Given the description of an element on the screen output the (x, y) to click on. 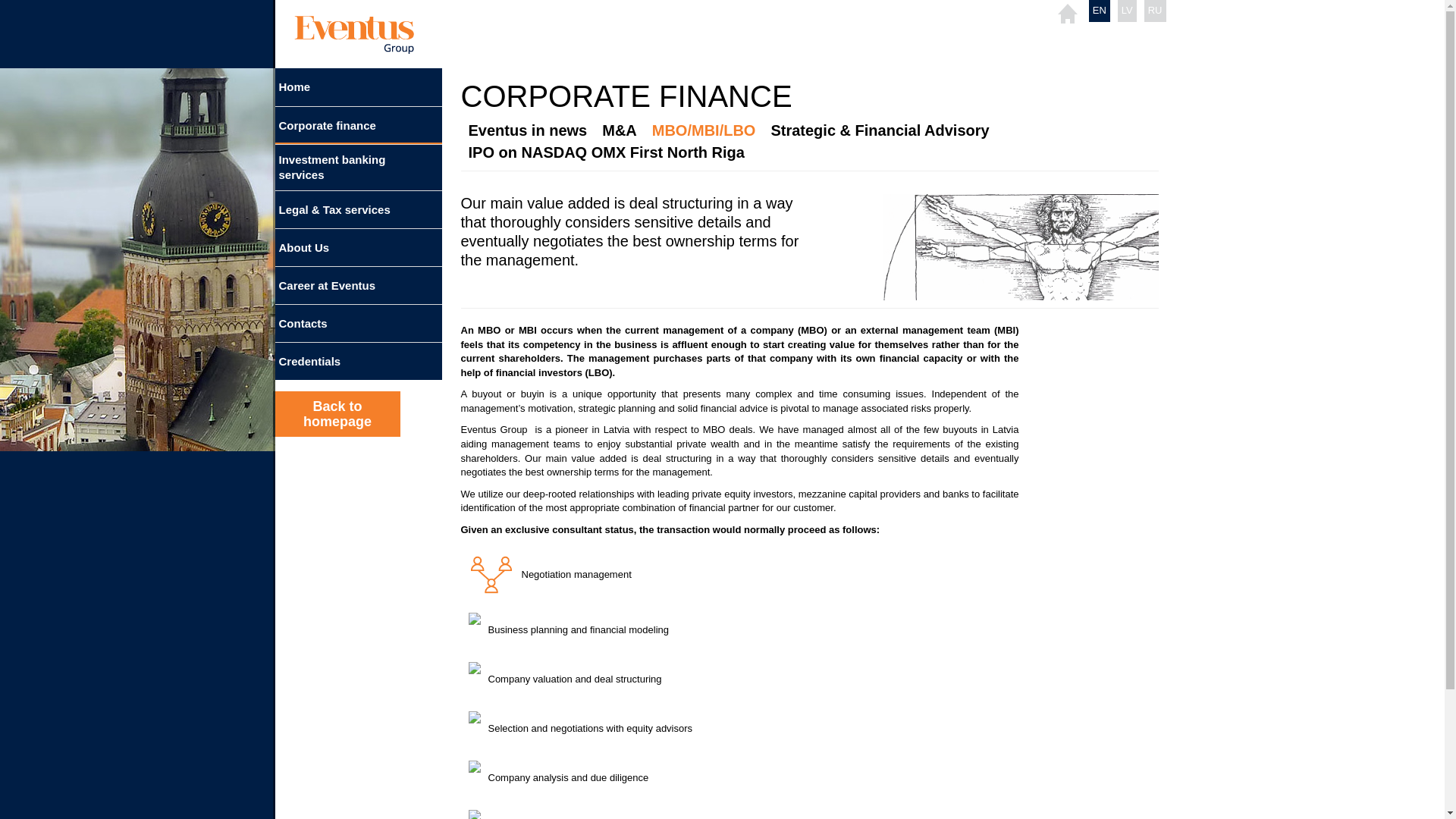
IPO on NASDAQ OMX First North Riga (606, 152)
Home (358, 86)
Investment banking services (358, 167)
CORPORATE FINANCE (626, 96)
RU (1155, 9)
Contacts (358, 323)
EN (1099, 9)
Credentials (358, 361)
Corporate finance (358, 125)
Eventus in news (528, 130)
Back to homepage (336, 413)
LV (1127, 9)
About Us (358, 247)
Career at Eventus (358, 284)
